Given the description of an element on the screen output the (x, y) to click on. 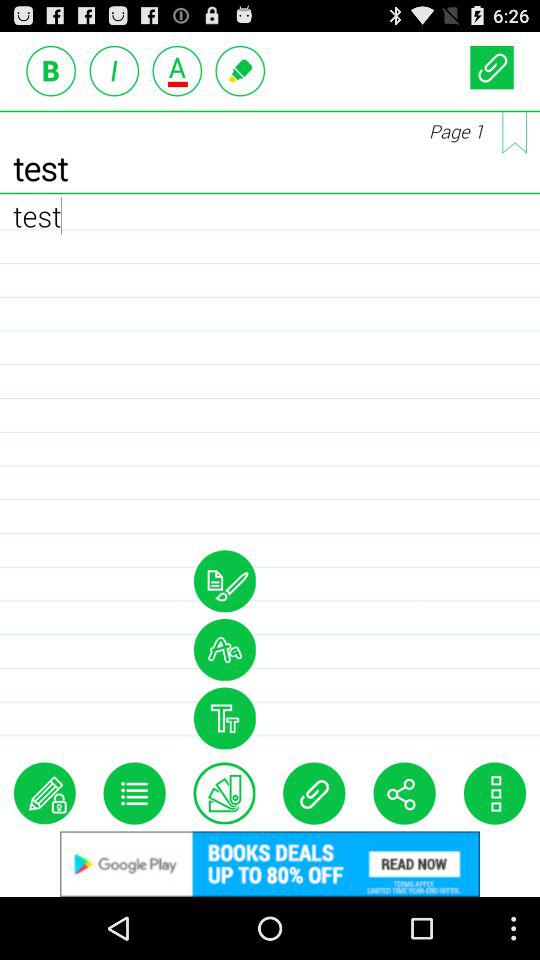
toggle option (224, 581)
